Given the description of an element on the screen output the (x, y) to click on. 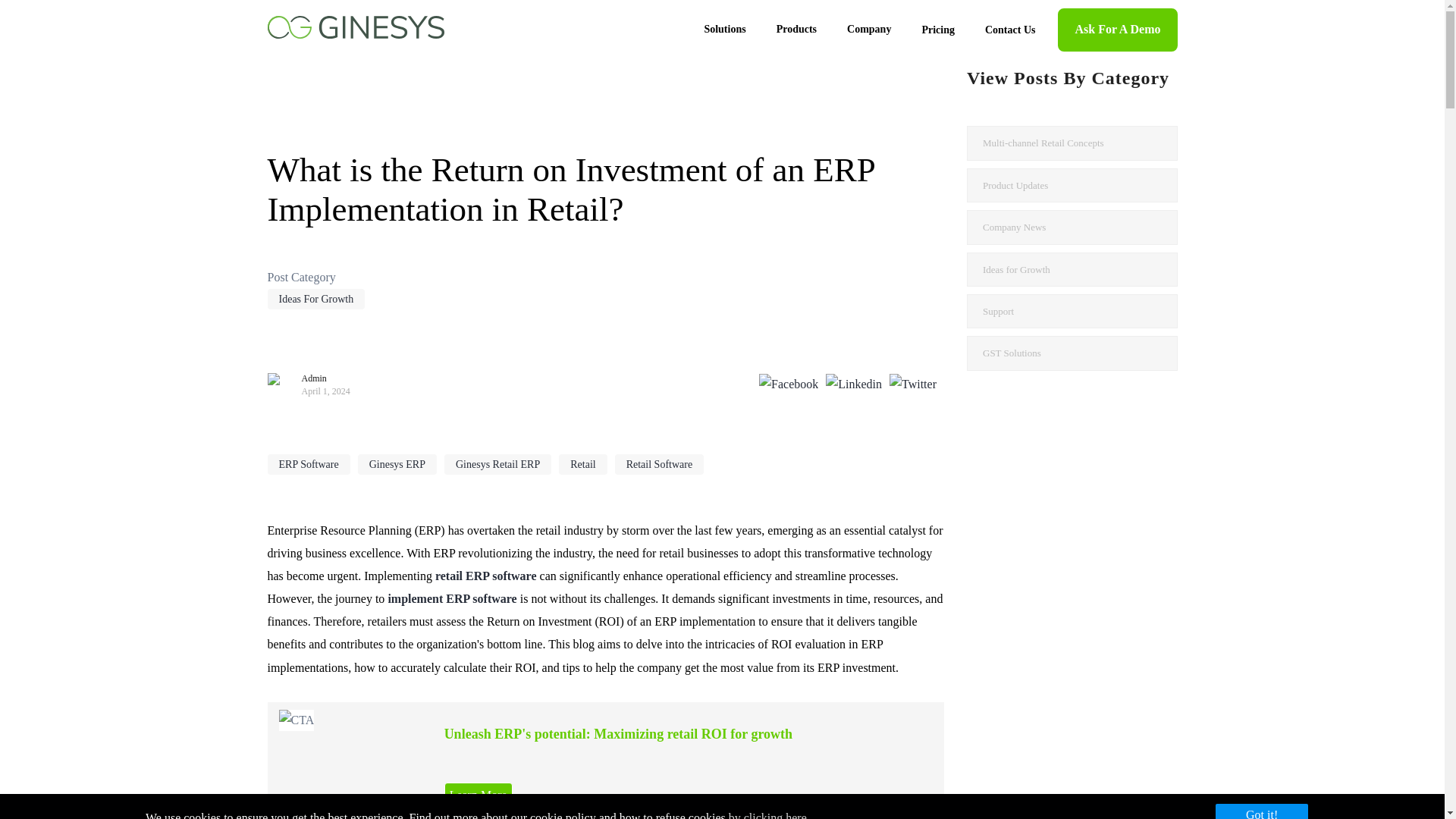
Twitter (916, 383)
Solutions (724, 29)
Company (868, 29)
Home (355, 22)
Facebook (791, 383)
Linkedin (857, 383)
Learn More (478, 795)
Products (796, 29)
